Given the description of an element on the screen output the (x, y) to click on. 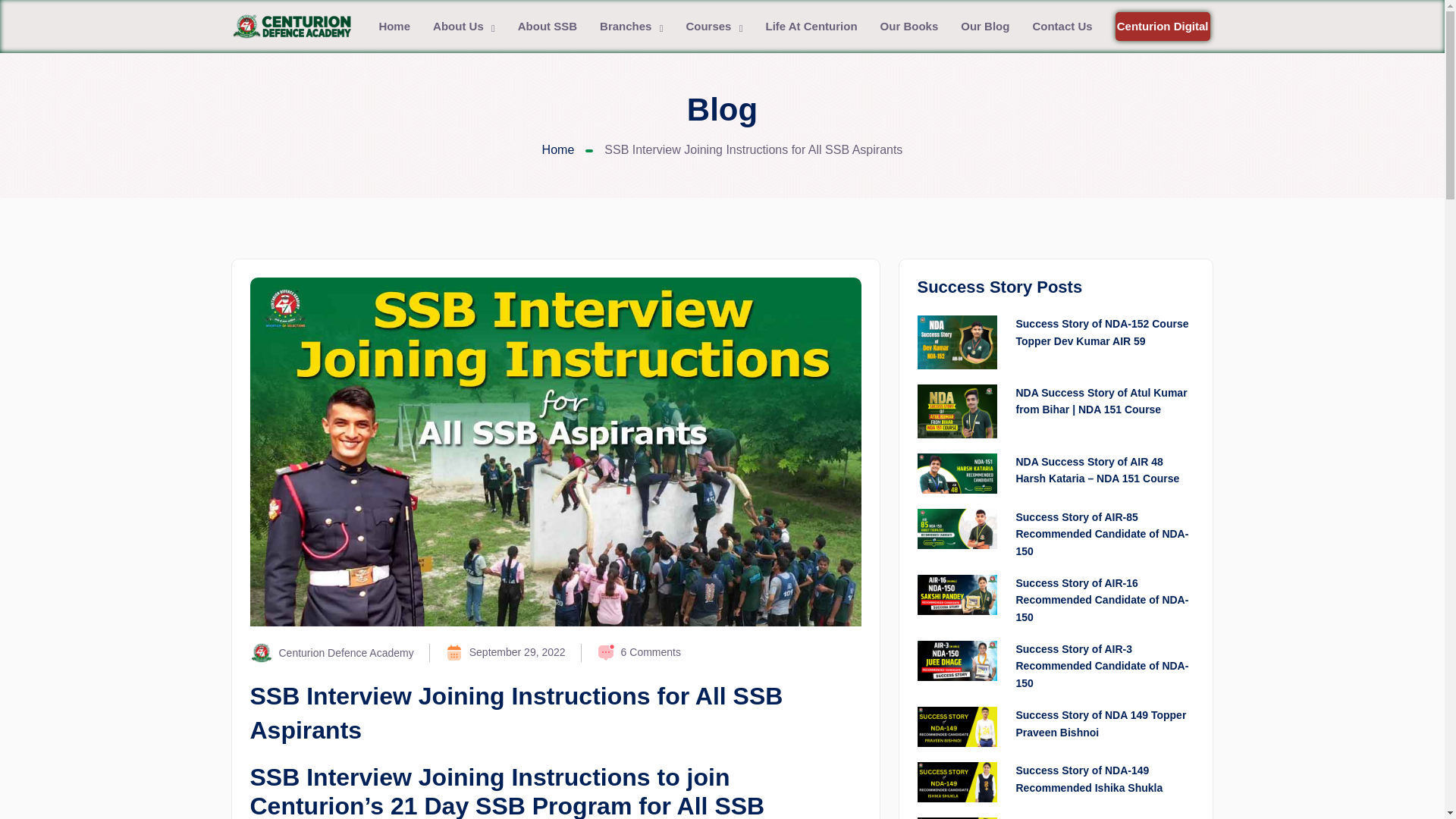
Courses (713, 26)
6 Comments (638, 652)
Our Blog (984, 26)
Our Books (909, 26)
Branches (630, 26)
Centurion Defence Academy (331, 652)
Centurion Digital (1162, 26)
September 29, 2022 (505, 652)
Home (558, 149)
Contact Us (1062, 26)
